Given the description of an element on the screen output the (x, y) to click on. 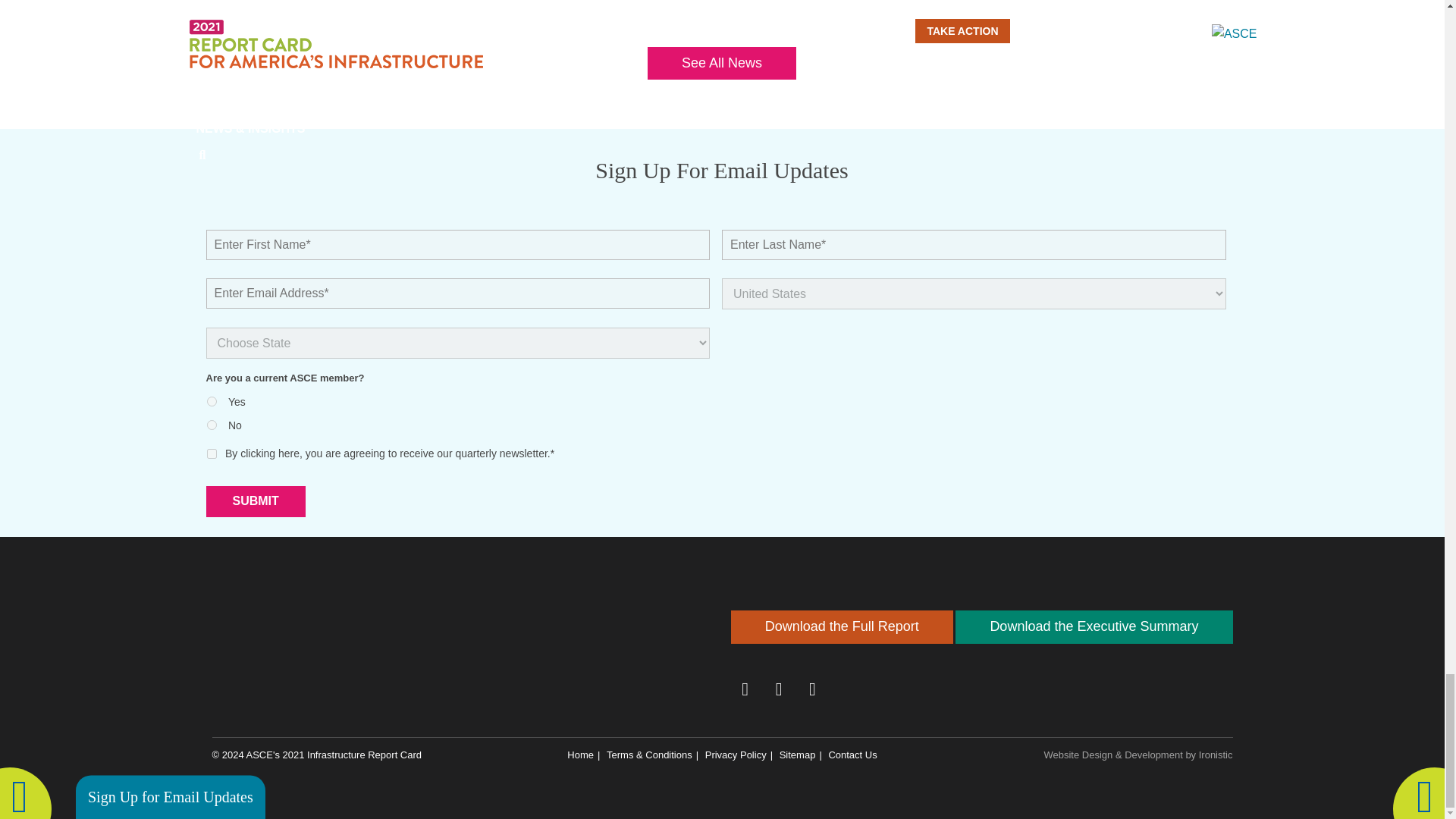
Submit (255, 501)
Yes (210, 401)
No (210, 424)
